Given the description of an element on the screen output the (x, y) to click on. 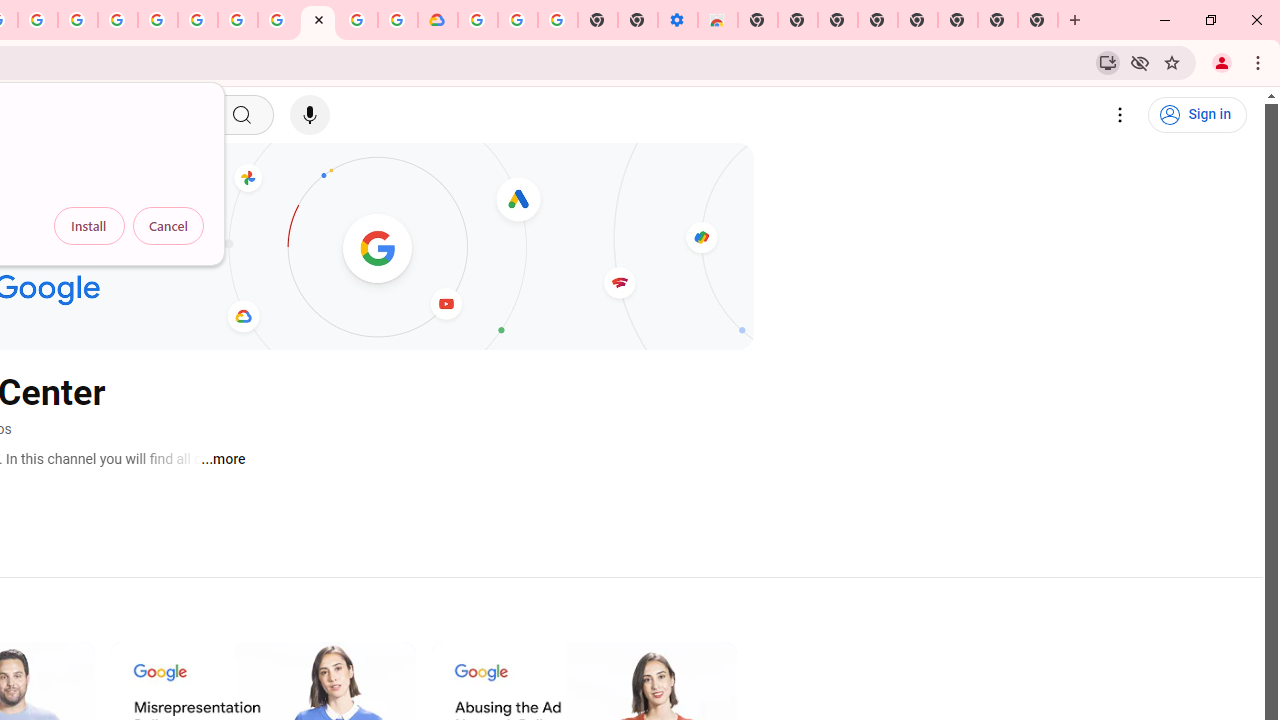
Install YouTube (1107, 62)
Create your Google Account (37, 20)
Sign in - Google Accounts (477, 20)
New Tab (1037, 20)
Cancel (168, 225)
Create your Google Account (357, 20)
Ad Settings (118, 20)
Browse the Google Chrome Community - Google Chrome Community (397, 20)
Google Account Help (517, 20)
